Given the description of an element on the screen output the (x, y) to click on. 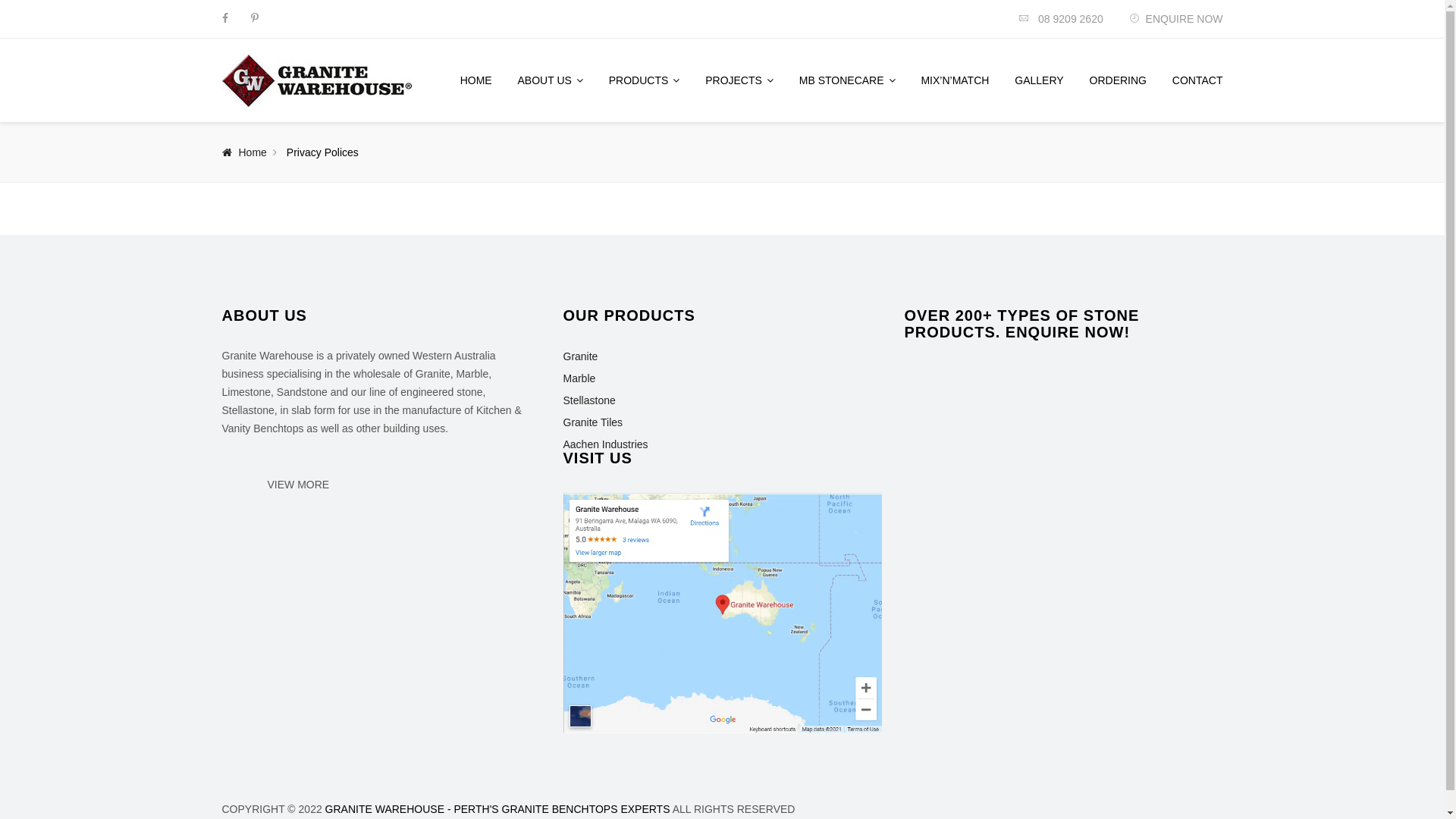
GRANITE WAREHOUSE - PERTH'S GRANITE BENCHTOPS EXPERTS Element type: text (497, 809)
GALLERY Element type: text (1038, 80)
ABOUT US Element type: text (550, 80)
ORDERING Element type: text (1117, 80)
PRODUCTS Element type: text (644, 80)
CONTACT Element type: text (1197, 80)
Home Element type: text (243, 152)
PROJECTS Element type: text (739, 80)
Marble Element type: text (578, 378)
MB STONECARE Element type: text (847, 80)
HOME Element type: text (476, 80)
08 9209 2620 Element type: text (1060, 18)
Granite Element type: text (579, 356)
Granite Tiles Element type: text (592, 422)
Stellastone Element type: text (588, 400)
Aachen Industries Element type: text (604, 444)
VIEW MORE Element type: text (297, 484)
